Given the description of an element on the screen output the (x, y) to click on. 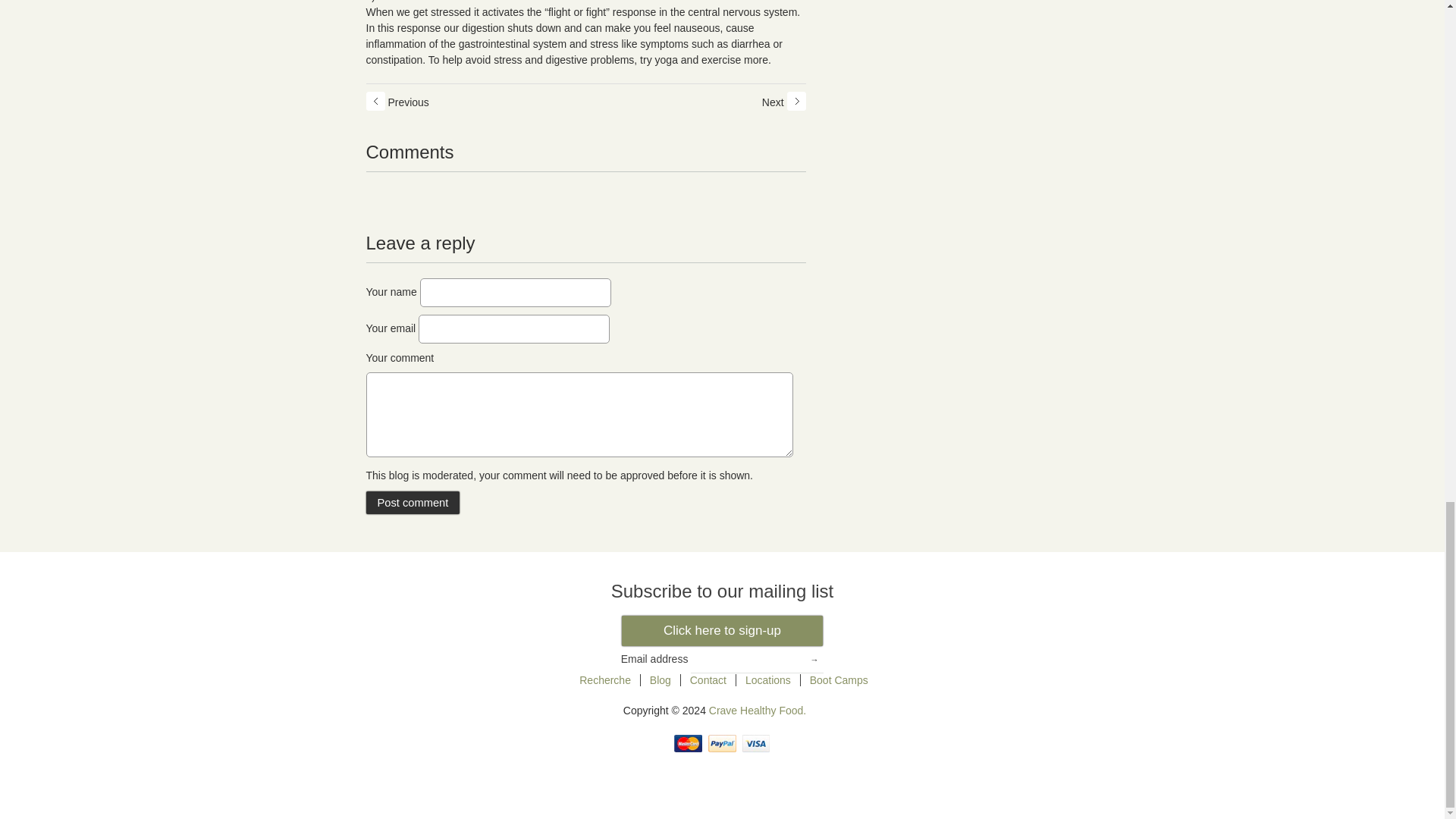
Post comment (412, 502)
Boot Camps (838, 680)
Post comment (412, 502)
Click here to sign-up (721, 630)
Blog (660, 680)
Contact (708, 680)
Recherche (604, 680)
Locations (767, 680)
Recherche (604, 680)
